Given the description of an element on the screen output the (x, y) to click on. 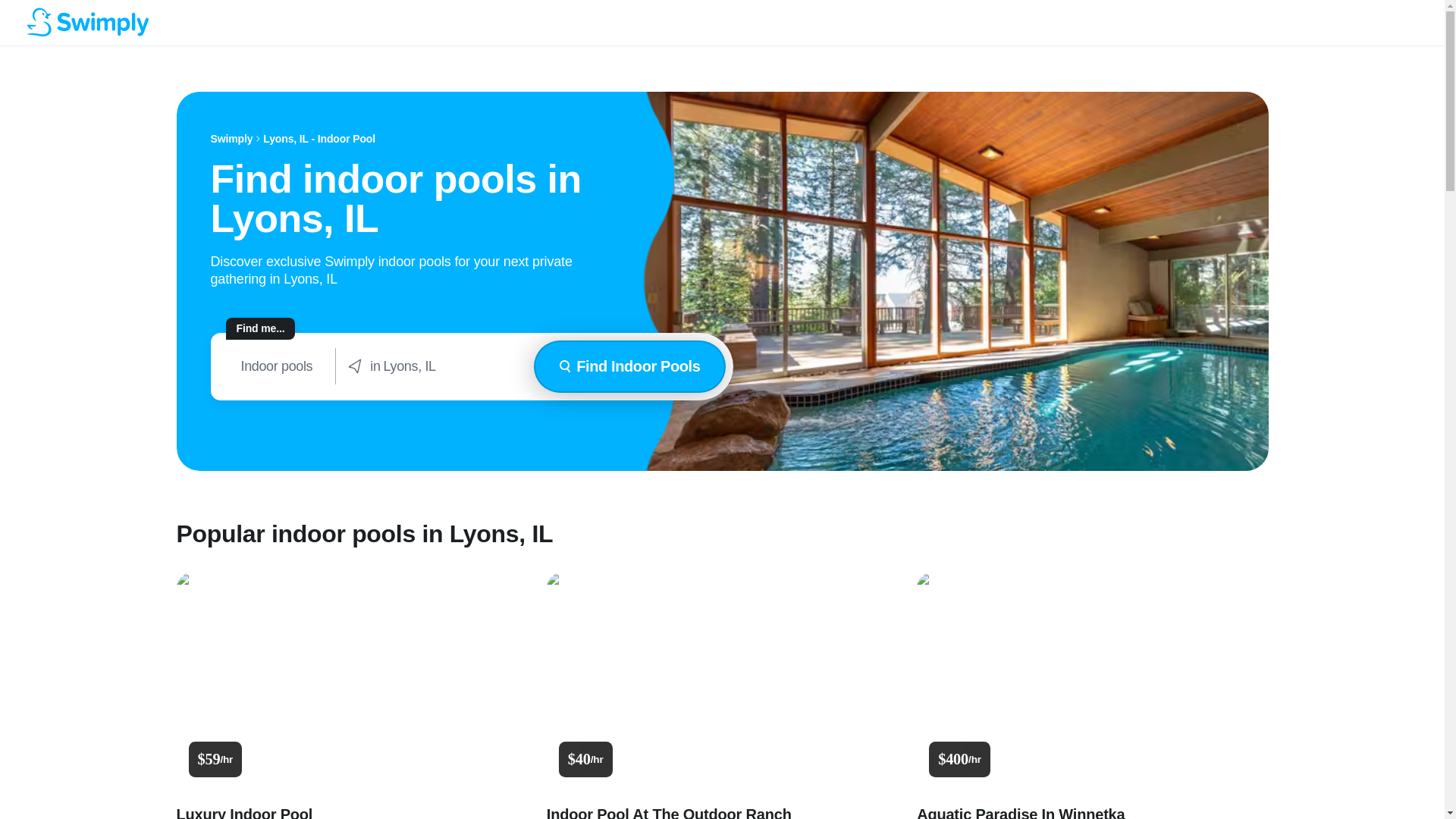
Lyons, IL - Indoor Pool (319, 138)
Swimply (232, 138)
Find Indoor Pools (629, 366)
